Given the description of an element on the screen output the (x, y) to click on. 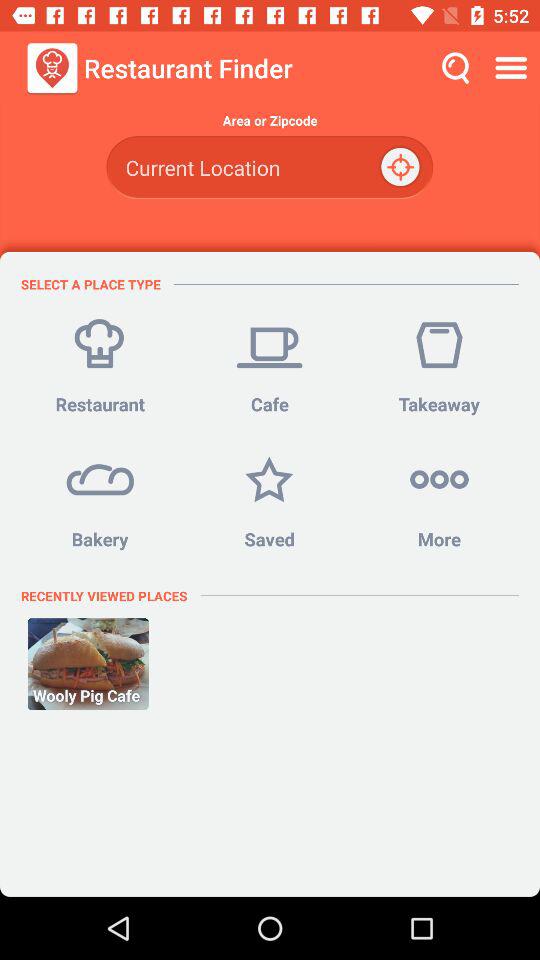
press item below area or zipcode icon (269, 167)
